Given the description of an element on the screen output the (x, y) to click on. 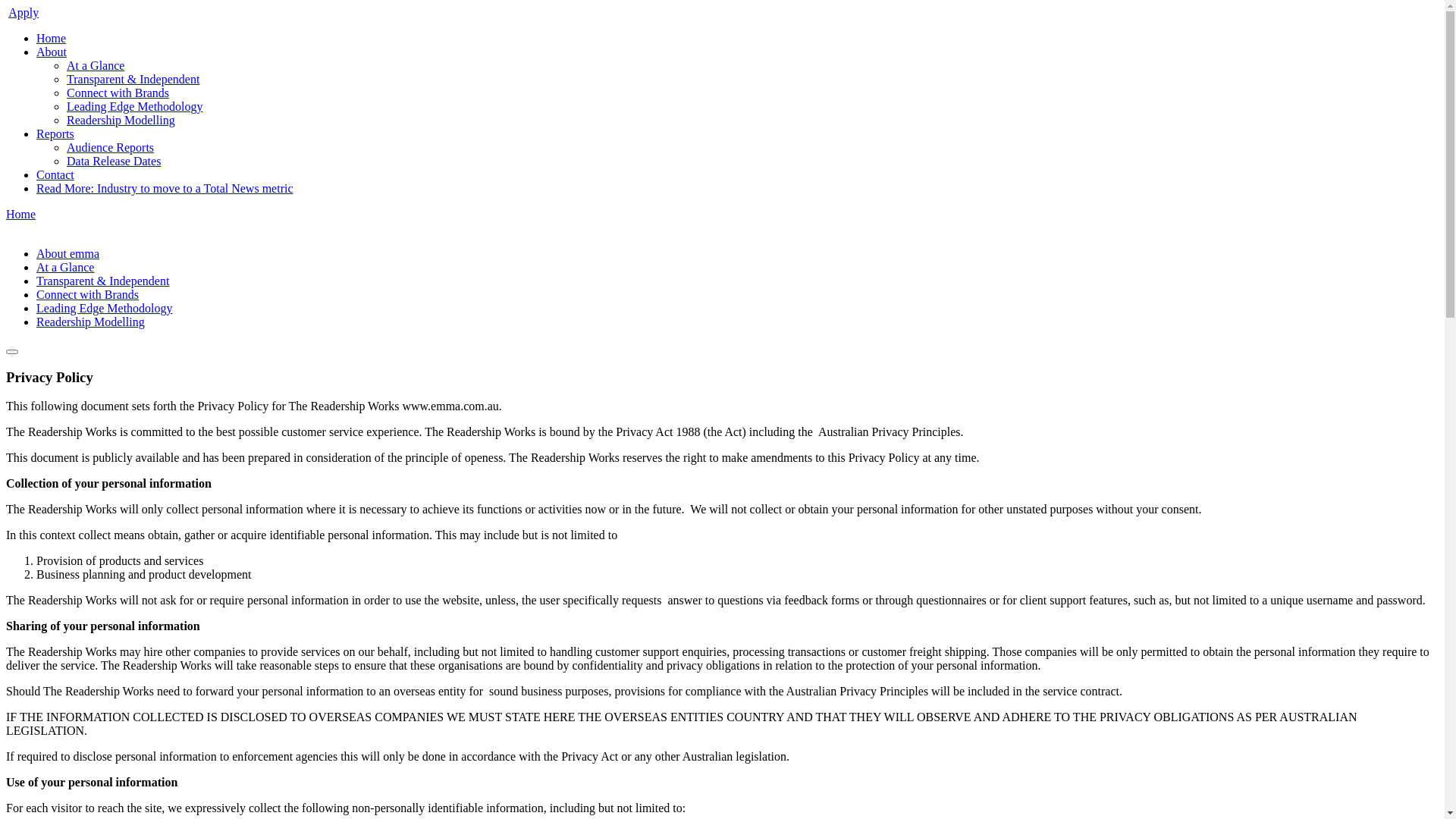
Leading Edge Methodology Element type: text (134, 106)
Leading Edge Methodology Element type: text (104, 307)
Home Element type: text (20, 213)
Readership Modelling Element type: text (90, 321)
About emma Element type: text (67, 253)
Home Element type: text (50, 37)
Audience Reports Element type: text (109, 147)
About Element type: text (51, 51)
At a Glance Element type: text (95, 65)
At a Glance Element type: text (65, 266)
Data Release Dates Element type: text (113, 160)
Read More: Industry to move to a Total News metric Element type: text (164, 188)
Contact Element type: text (55, 174)
Transparent & Independent Element type: text (132, 78)
Transparent & Independent Element type: text (102, 280)
Reports Element type: text (55, 133)
Connect with Brands Element type: text (87, 294)
Readership Modelling Element type: text (120, 119)
Connect with Brands Element type: text (117, 92)
Apply Element type: text (23, 12)
